Given the description of an element on the screen output the (x, y) to click on. 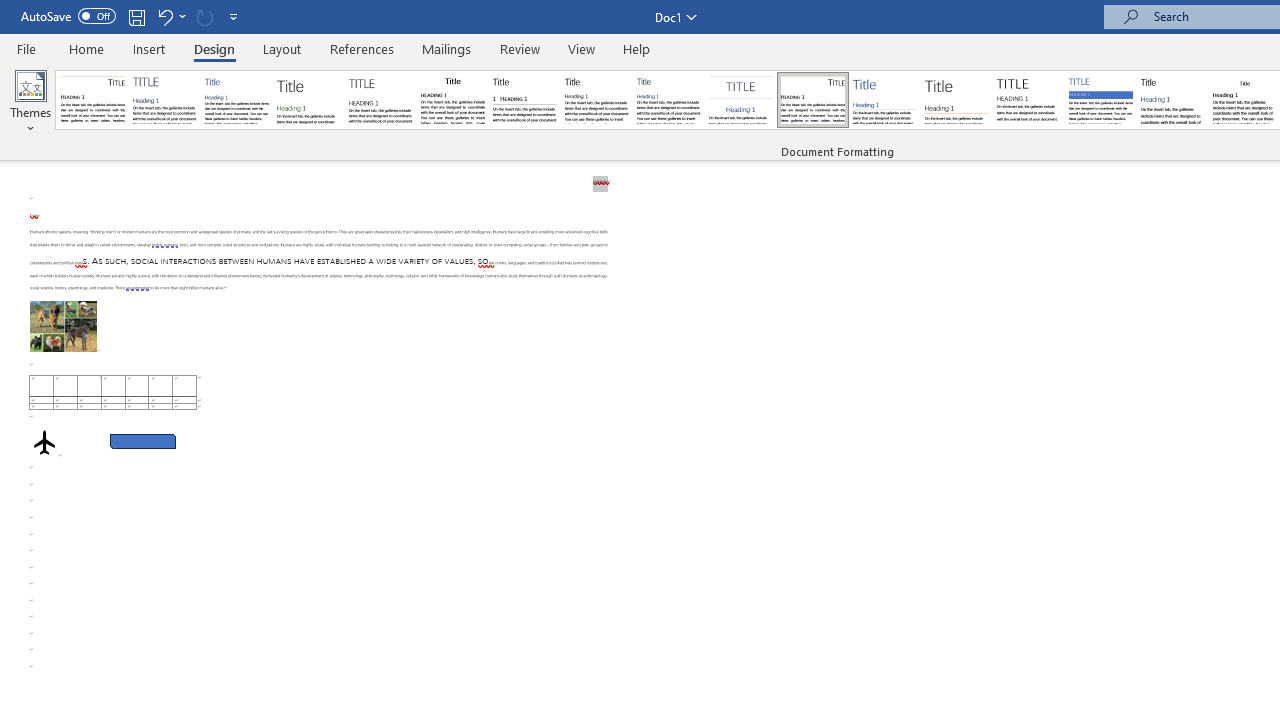
Casual (669, 100)
Minimalist (1028, 100)
Word (1172, 100)
Black & White (Numbered) (524, 100)
Shaded (1100, 100)
